Given the description of an element on the screen output the (x, y) to click on. 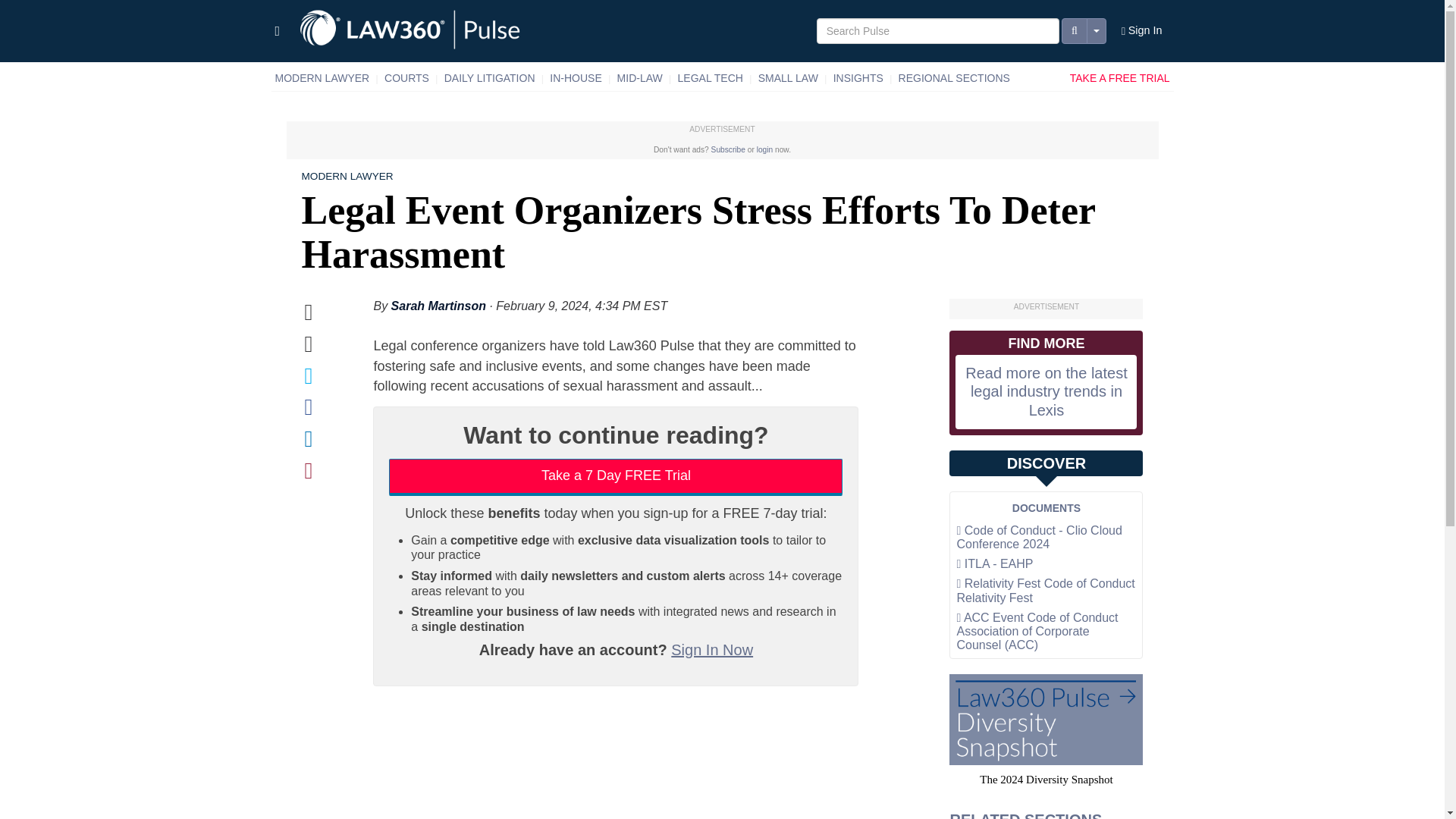
In-House (575, 77)
INSIGHTS (857, 77)
Toggle Dropdown (1096, 31)
COURTS (406, 77)
Legal Tech (710, 77)
Daily Litigation (489, 77)
SMALL LAW (788, 77)
Mid-Law (639, 77)
Insights (857, 77)
DAILY LITIGATION (489, 77)
LEGAL TECH (710, 77)
REGIONAL SECTIONS (954, 77)
Courts (406, 77)
  Sign In (1141, 31)
Search Button (1074, 31)
